Given the description of an element on the screen output the (x, y) to click on. 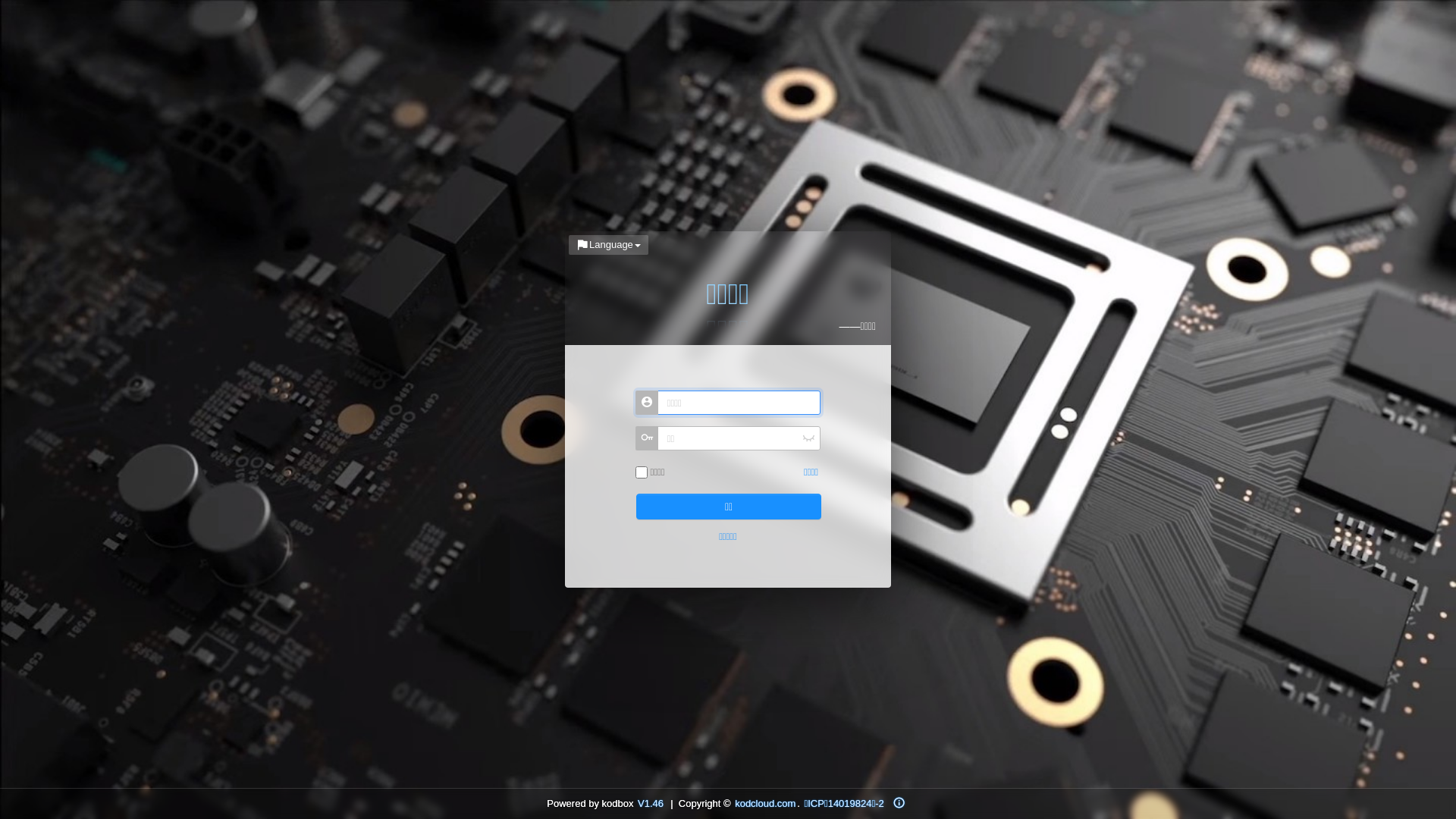
V1.46 Element type: text (650, 802)
kodcloud.com Element type: text (765, 802)
